Given the description of an element on the screen output the (x, y) to click on. 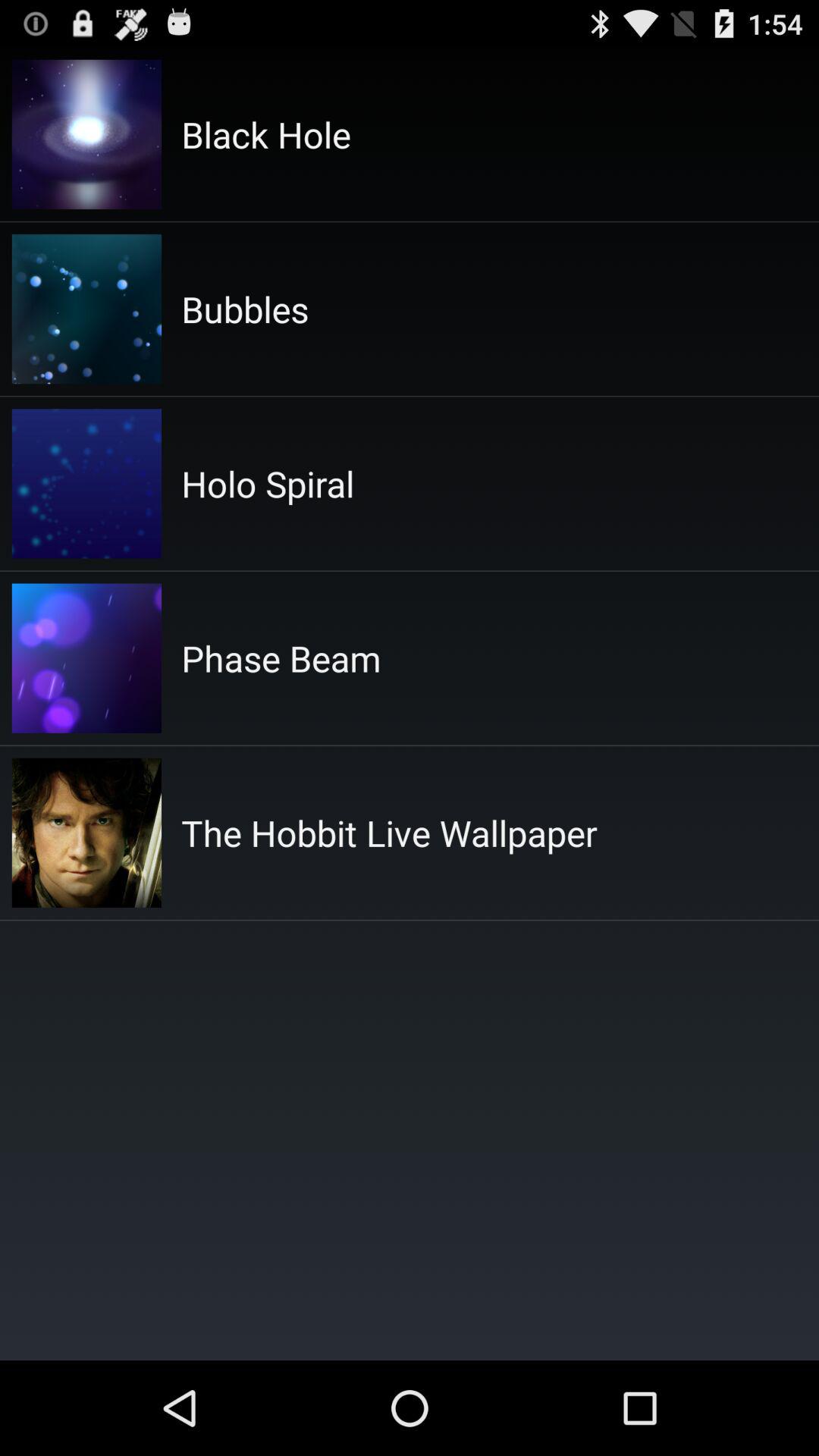
flip to holo spiral app (267, 483)
